Given the description of an element on the screen output the (x, y) to click on. 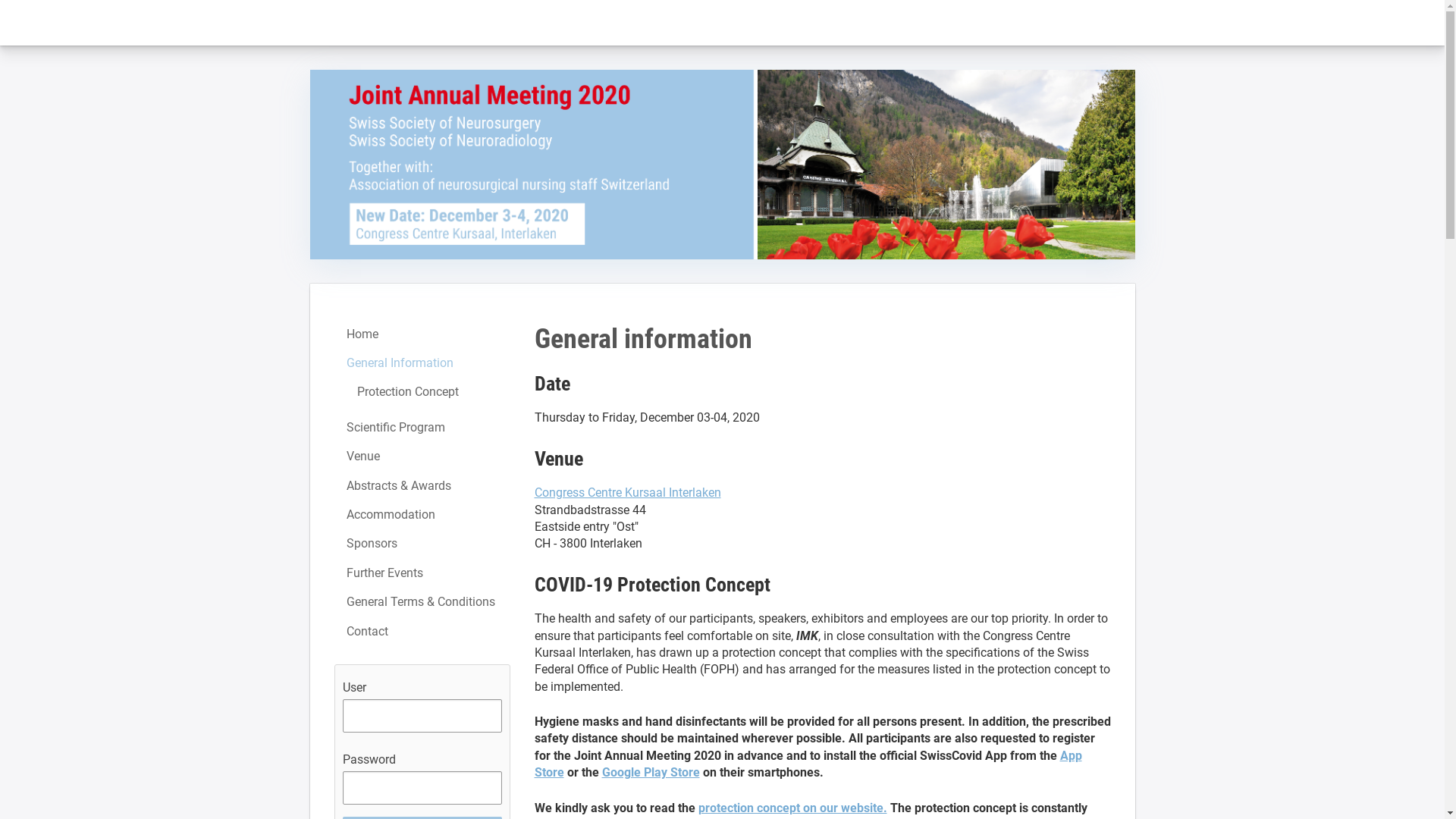
Scientific Program Element type: text (421, 427)
Protection Concept Element type: text (421, 391)
App Store Element type: text (807, 763)
protection concept on our website. Element type: text (791, 807)
Contact Element type: text (421, 631)
Accommodation Element type: text (421, 514)
Sponsors Element type: text (421, 543)
Venue Element type: text (421, 456)
Home Element type: text (421, 334)
Google Play Store Element type: text (650, 772)
Congress Centre Kursaal Interlaken Element type: text (626, 492)
Abstracts & Awards Element type: text (421, 485)
General Information Element type: text (421, 362)
Further Events Element type: text (421, 572)
General Terms & Conditions Element type: text (421, 601)
